Given the description of an element on the screen output the (x, y) to click on. 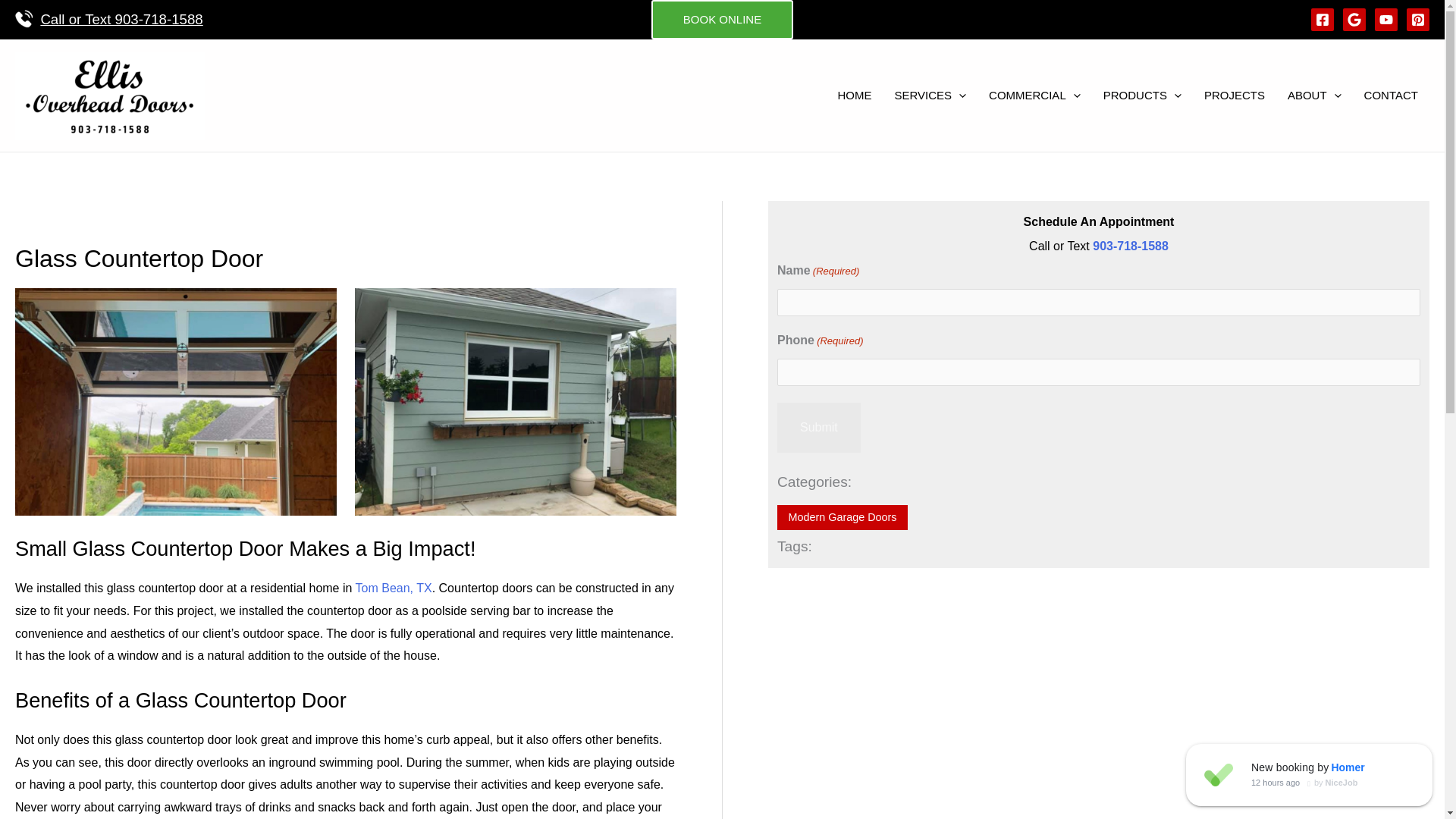
PRODUCTS (1142, 95)
Submit (818, 427)
HOME (853, 95)
Call or Text 903-718-1588 (121, 19)
SERVICES (929, 95)
BOOK ONLINE (721, 19)
COMMERCIAL (1034, 95)
